Given the description of an element on the screen output the (x, y) to click on. 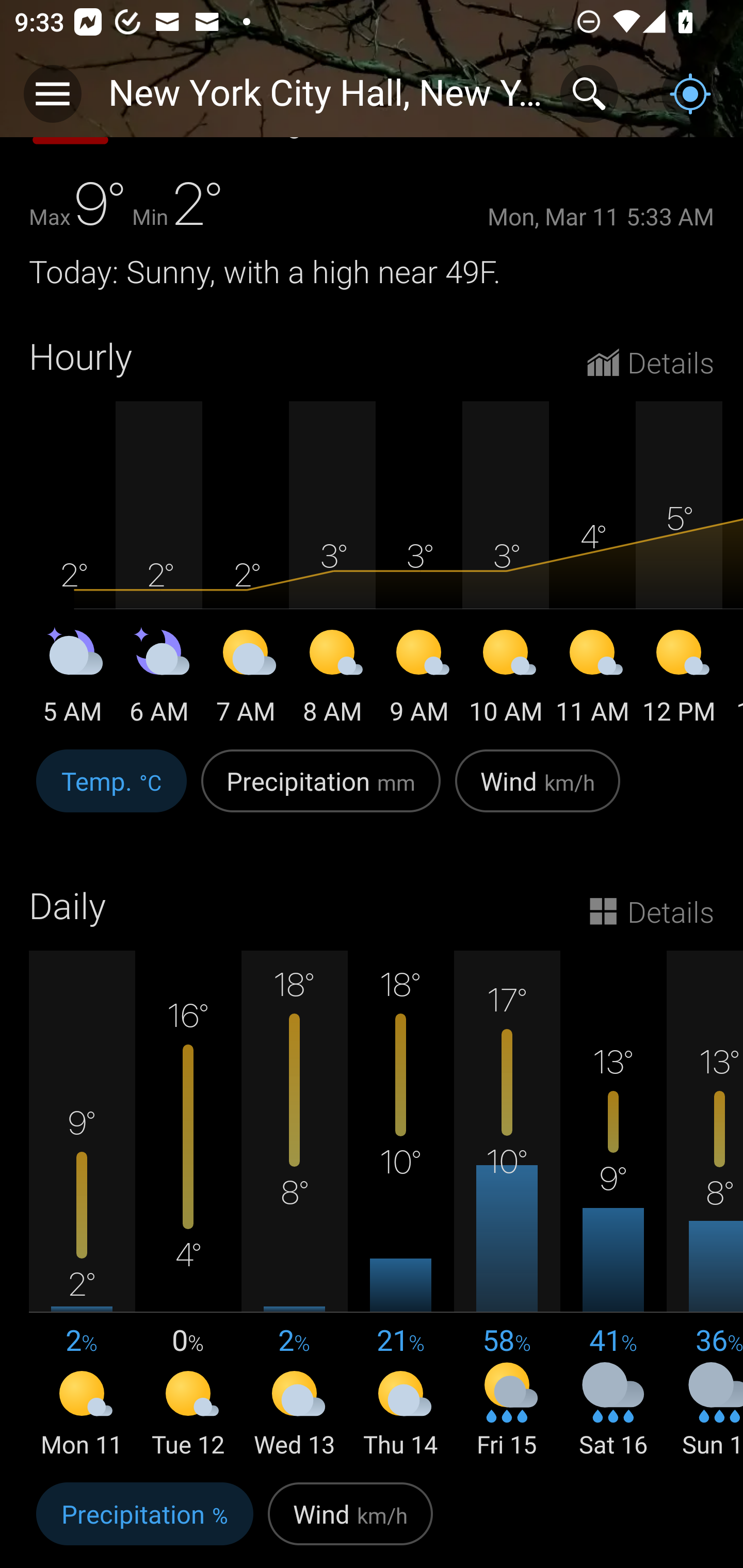
5 AM (71, 679)
6 AM (158, 679)
7 AM (245, 679)
8 AM (332, 679)
9 AM (418, 679)
10 AM (505, 679)
11 AM (592, 679)
12 PM (679, 679)
Temp. °C (110, 791)
Precipitation mm (320, 791)
Wind km/h (537, 791)
9° 2° 2 % Mon 11 (81, 1205)
16° 4° 0 % Tue 12 (188, 1205)
18° 8° 2 % Wed 13 (294, 1205)
18° 10° 21 % Thu 14 (400, 1205)
17° 10° 58 % Fri 15 (506, 1205)
13° 9° 41 % Sat 16 (613, 1205)
13° 8° 36 % Sun 17 (704, 1205)
Precipitation % (144, 1521)
Wind km/h (349, 1521)
